Given the description of an element on the screen output the (x, y) to click on. 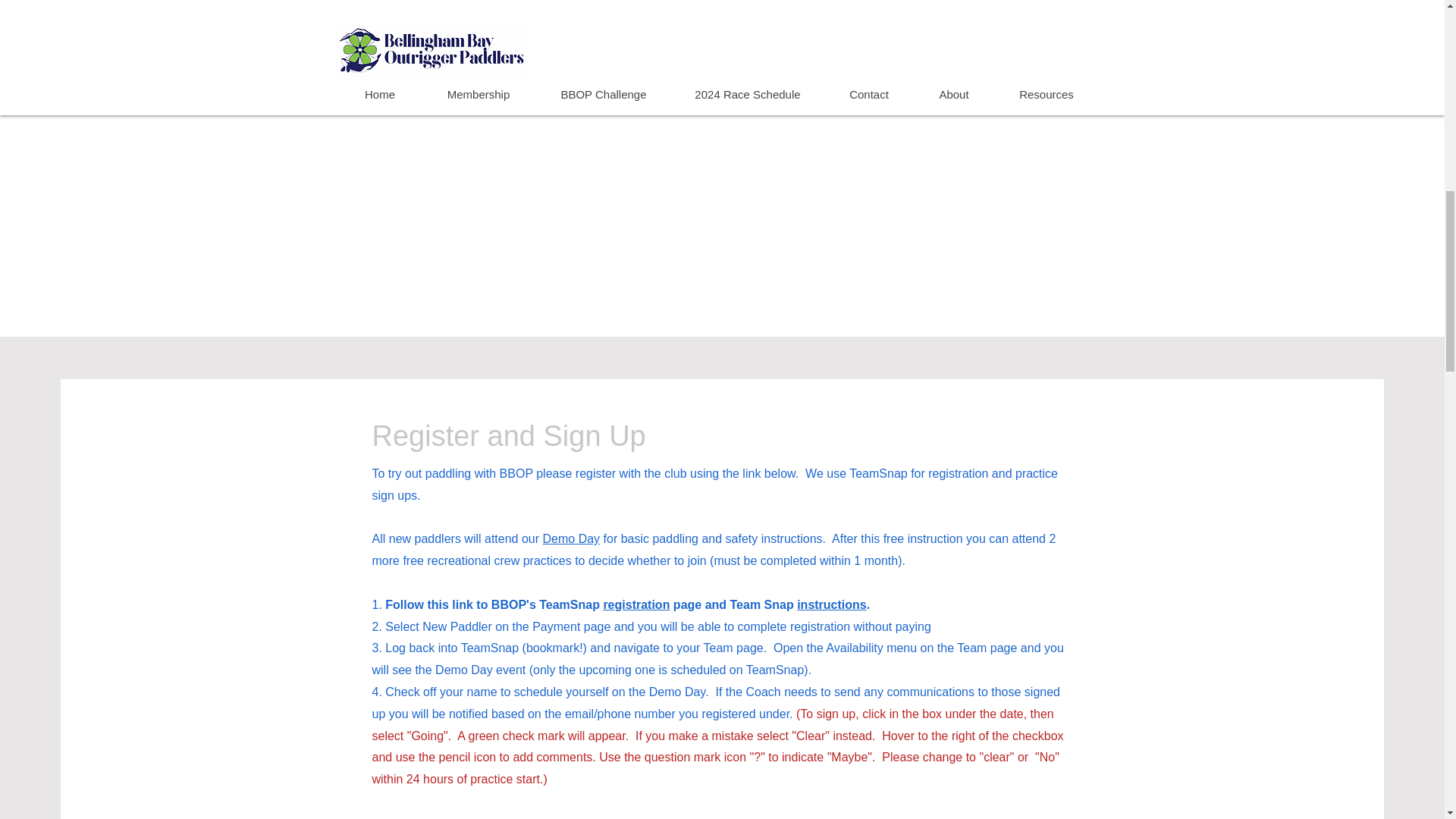
registration (635, 604)
instructions (831, 604)
Demo Day (571, 538)
